Given the description of an element on the screen output the (x, y) to click on. 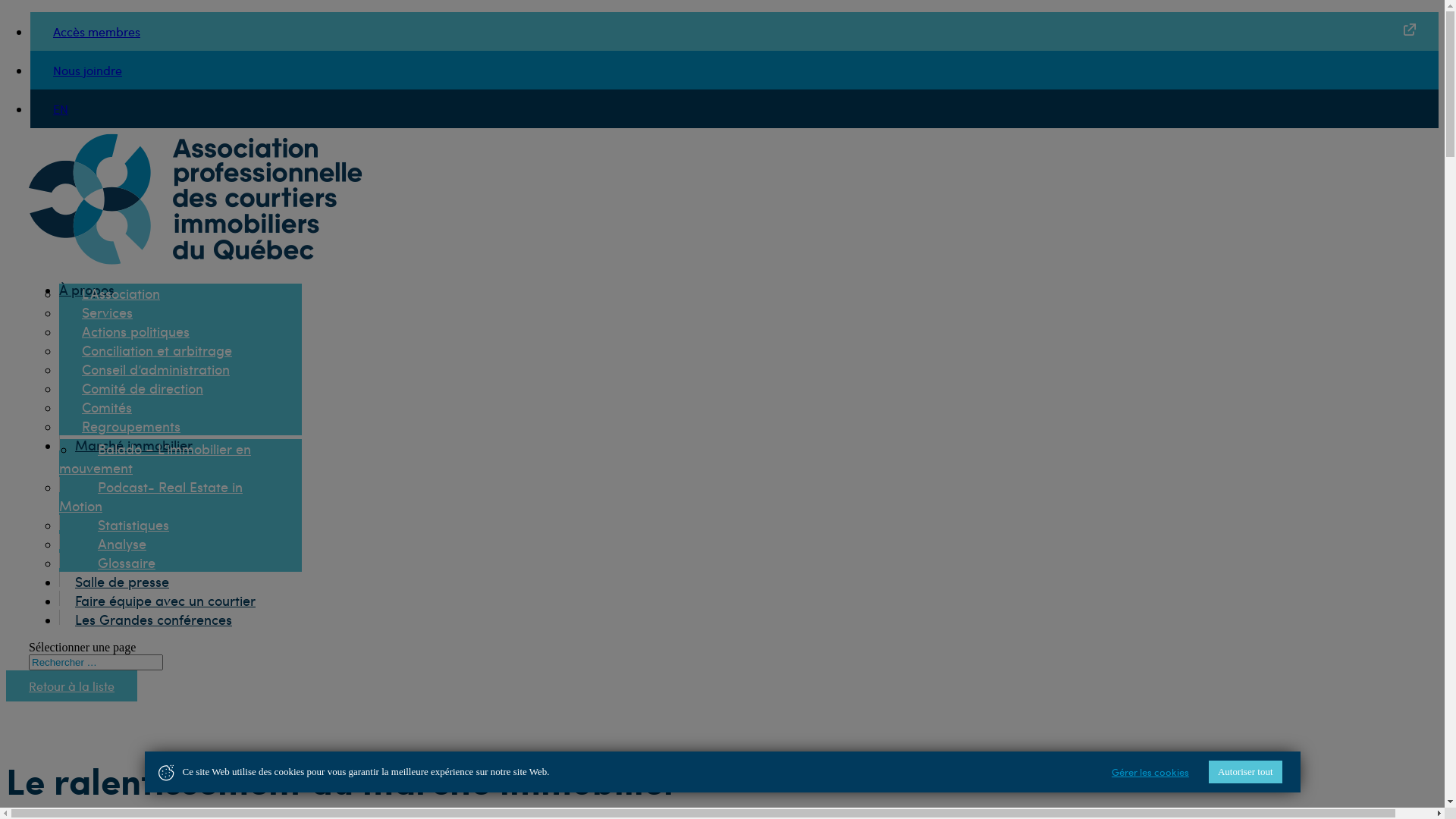
Glossaire Element type: text (126, 562)
Actions politiques Element type: text (135, 330)
Salle de presse Element type: text (122, 580)
Autoriser tout Element type: text (1245, 771)
EN Element type: text (60, 108)
Conciliation et arbitrage Element type: text (156, 349)
Regroupements Element type: text (131, 425)
Statistiques Element type: text (133, 524)
Analyse Element type: text (122, 543)
Services Element type: text (107, 311)
Rechercher: Element type: hover (95, 662)
Nous joindre Element type: text (87, 70)
Podcast- Real Estate in Motion Element type: text (150, 495)
